Given the description of an element on the screen output the (x, y) to click on. 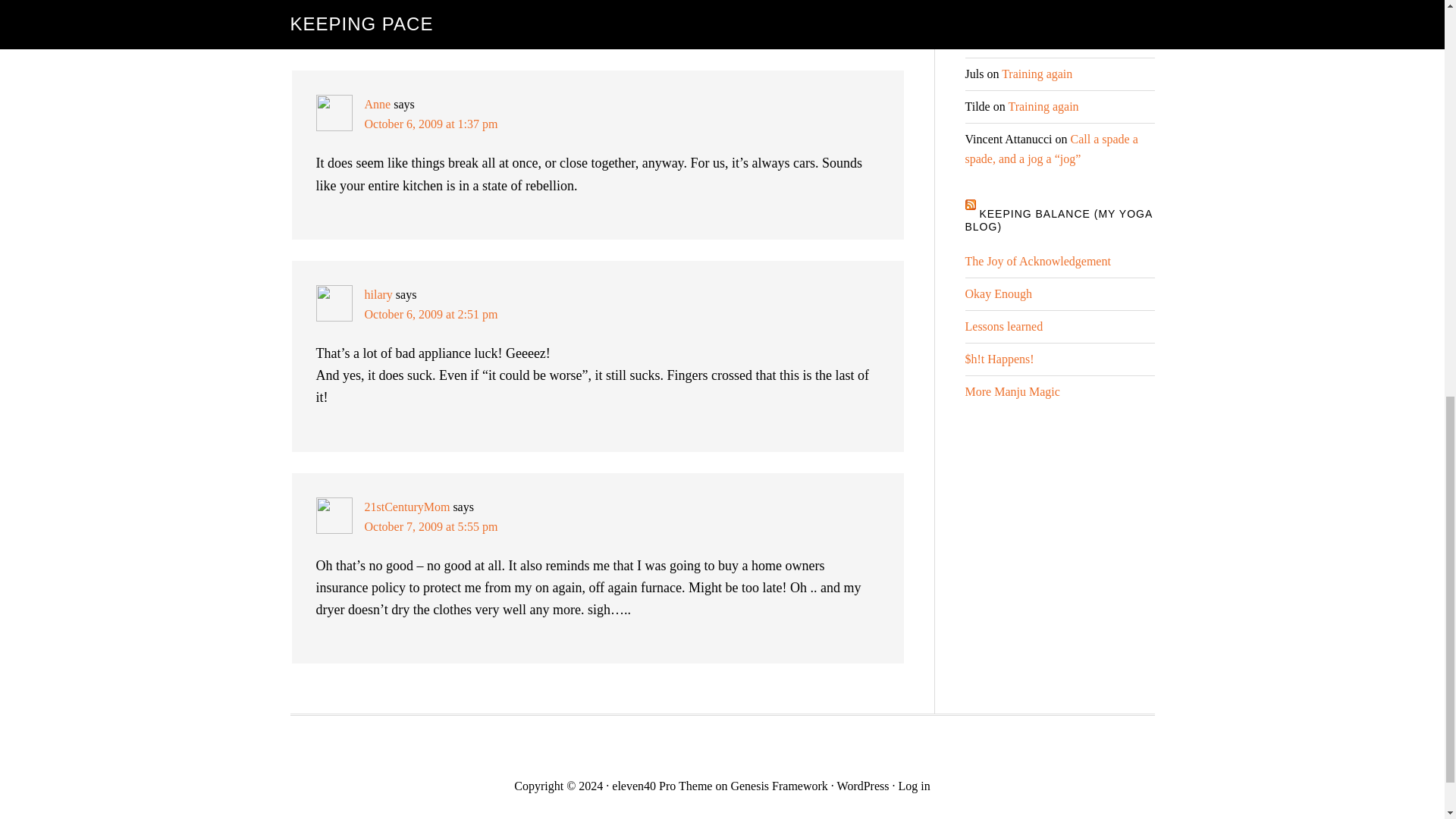
October 6, 2009 at 2:51 pm (430, 314)
21stCenturyMom (406, 506)
October 6, 2009 at 1:37 pm (430, 123)
Training again (1042, 106)
Training again (1036, 73)
Lessons learned (1002, 326)
Okay Enough (996, 293)
T minus 21d (1100, 41)
The Joy of Acknowledgement (1036, 260)
More Manju Magic (1011, 391)
Anne (377, 103)
hilary (377, 294)
When you need a little nudge to get going (1052, 7)
October 7, 2009 at 5:55 pm (430, 526)
